Given the description of an element on the screen output the (x, y) to click on. 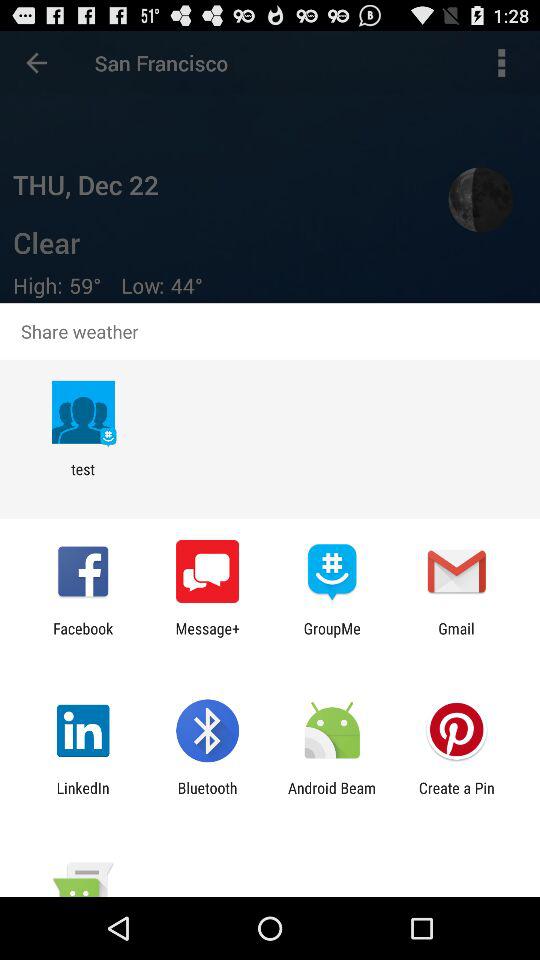
tap app to the left of groupme item (207, 637)
